Given the description of an element on the screen output the (x, y) to click on. 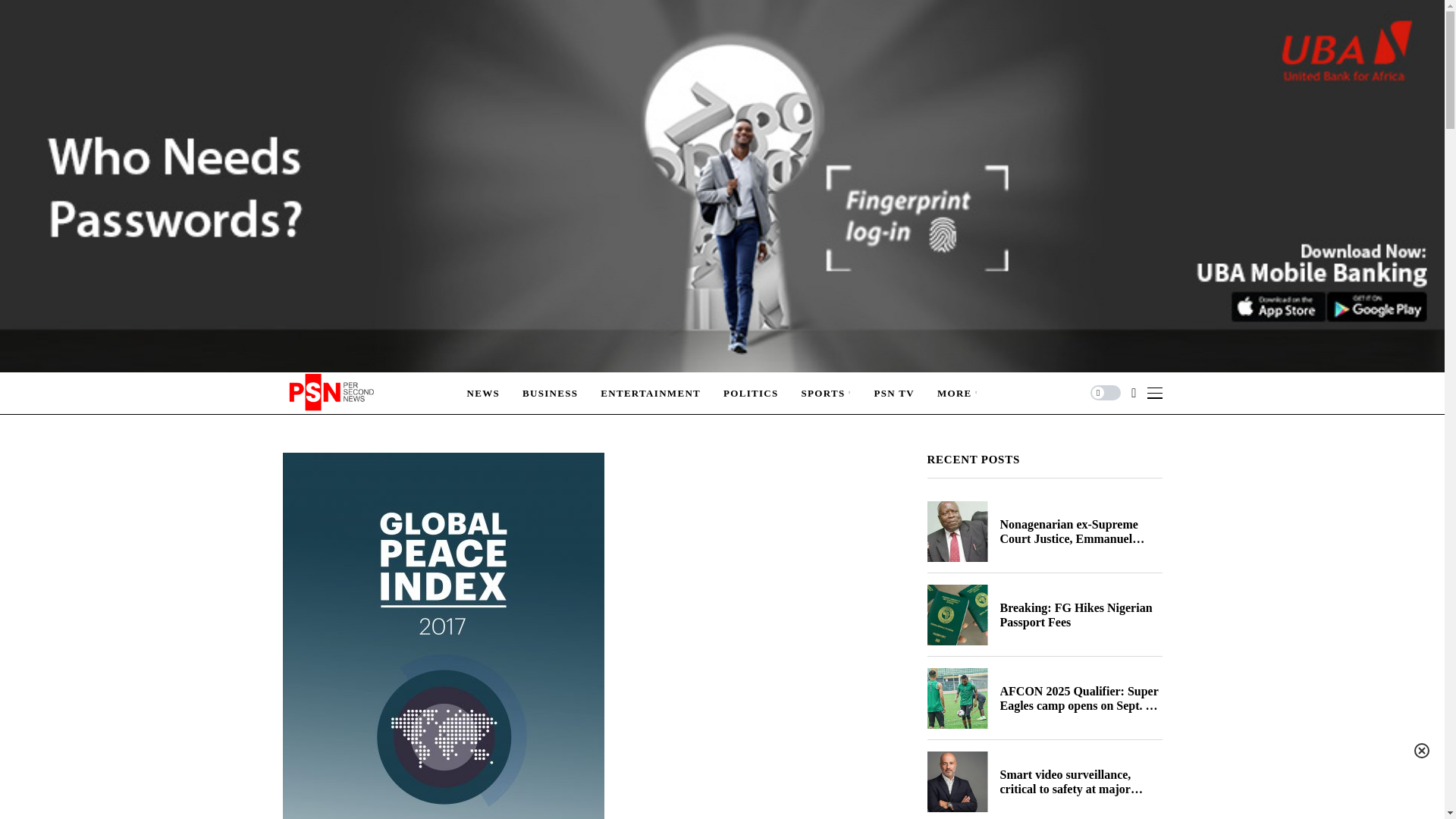
BUSINESS (550, 393)
POLITICS (750, 393)
SPORTS (826, 393)
PSN TV (893, 393)
MORE (957, 393)
ENTERTAINMENT (649, 393)
